Given the description of an element on the screen output the (x, y) to click on. 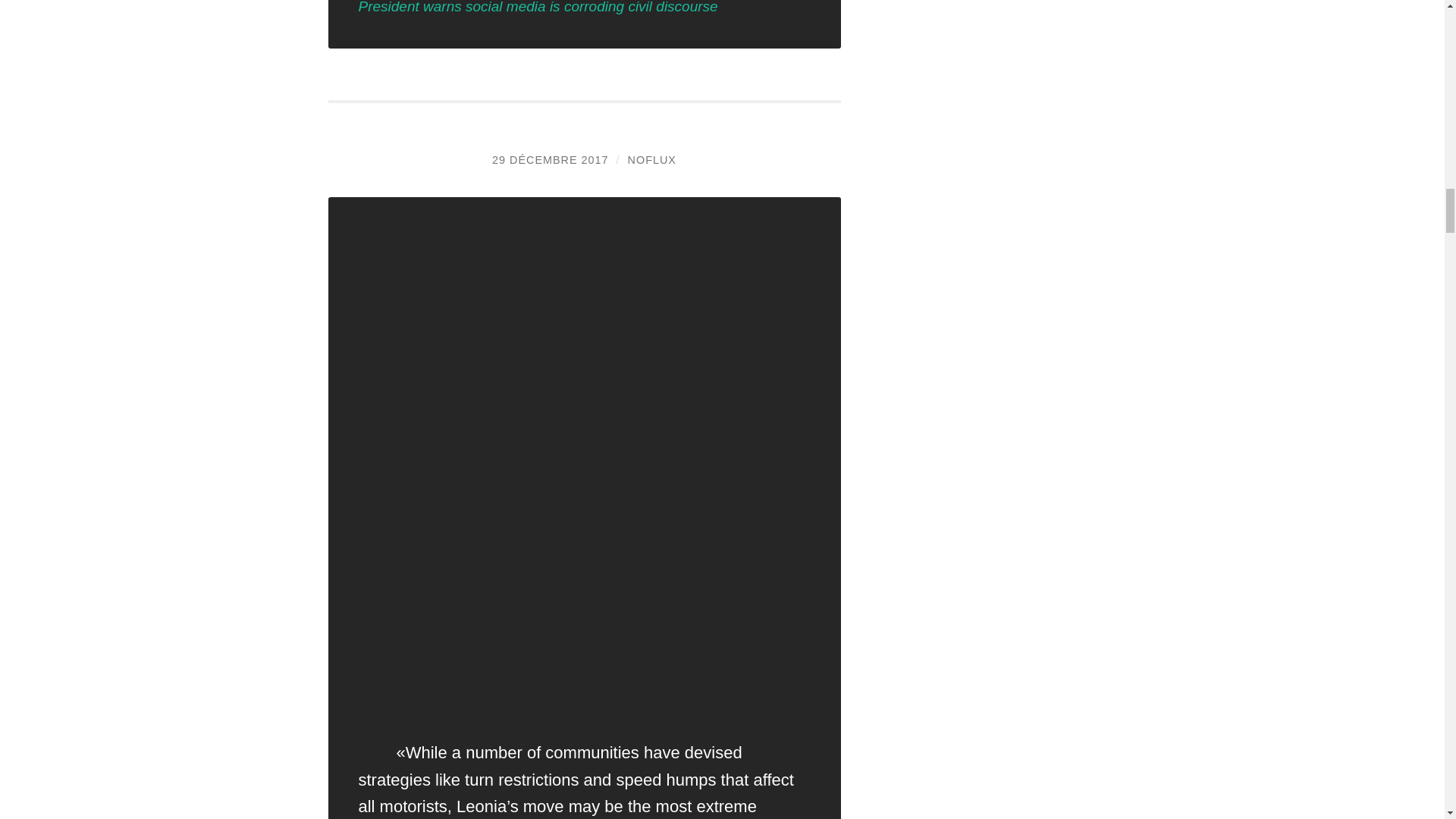
Articles par noflux (652, 159)
NOFLUX (652, 159)
